Given the description of an element on the screen output the (x, y) to click on. 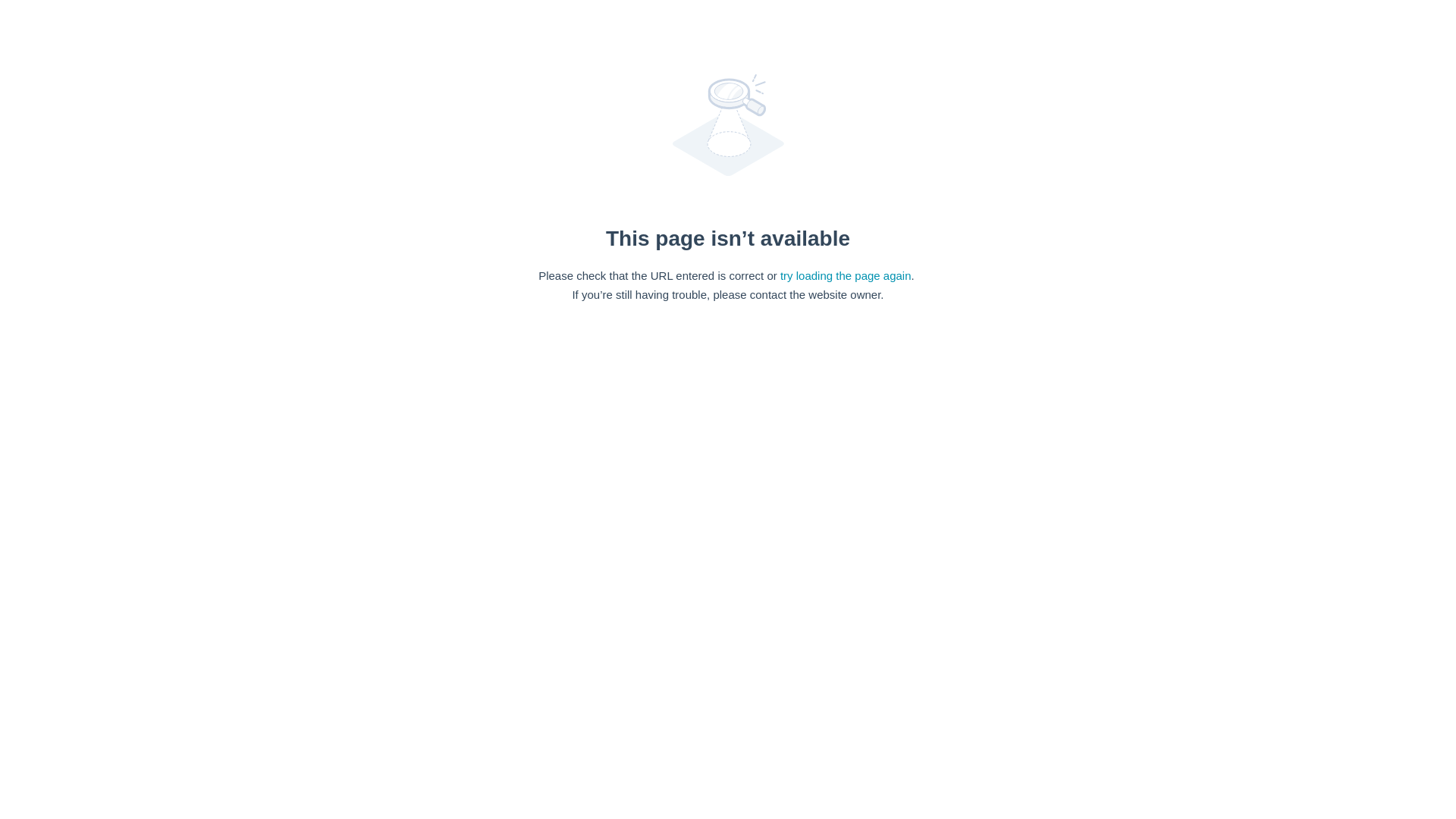
try loading the page again Element type: text (845, 274)
